Given the description of an element on the screen output the (x, y) to click on. 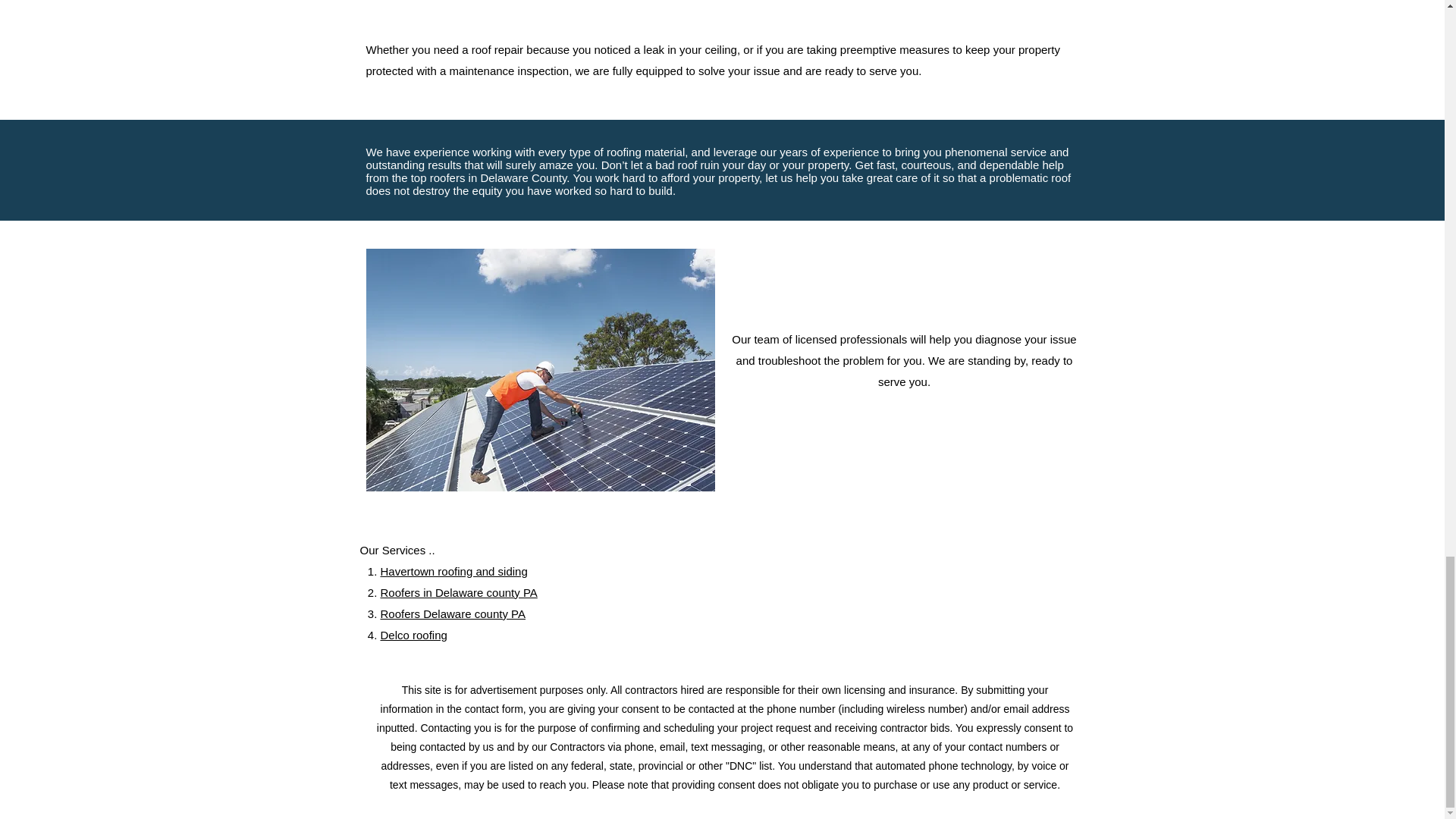
Delco roofing (413, 634)
Roofers in Delaware county PA (458, 592)
Roofers Delaware county PA (452, 613)
Havertown roofing and siding (453, 571)
